Given the description of an element on the screen output the (x, y) to click on. 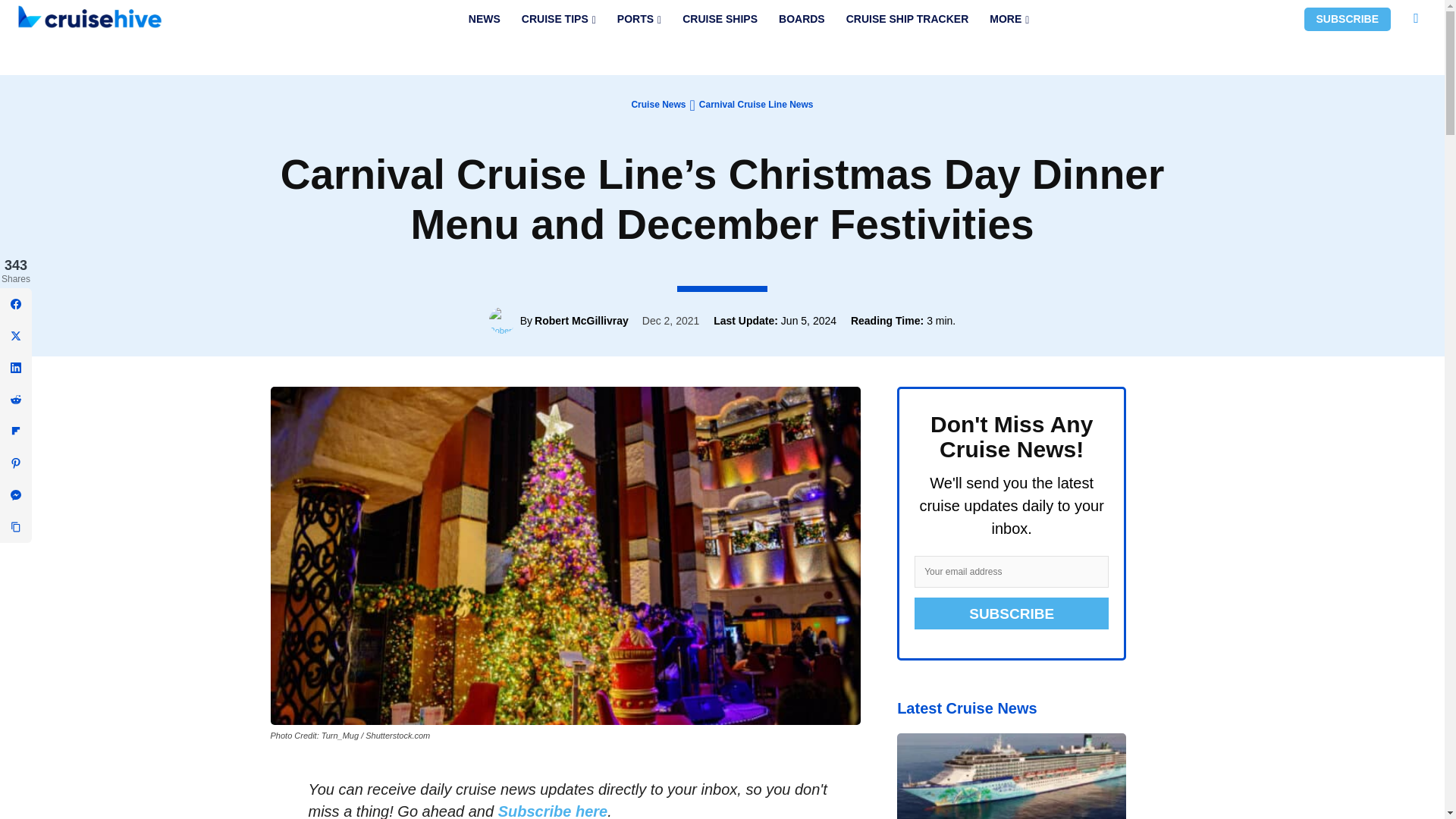
PORTS (639, 19)
View all posts in Cruise News (657, 104)
Cruise Ship Remains at Sea to Wait Out Tropical Storm Debby (1010, 776)
SUBSCRIBE (1347, 19)
View all posts in Carnival Cruise Line News (755, 104)
Robert McGillivray (504, 320)
CRUISE TIPS (559, 19)
NEWS (484, 19)
